Given the description of an element on the screen output the (x, y) to click on. 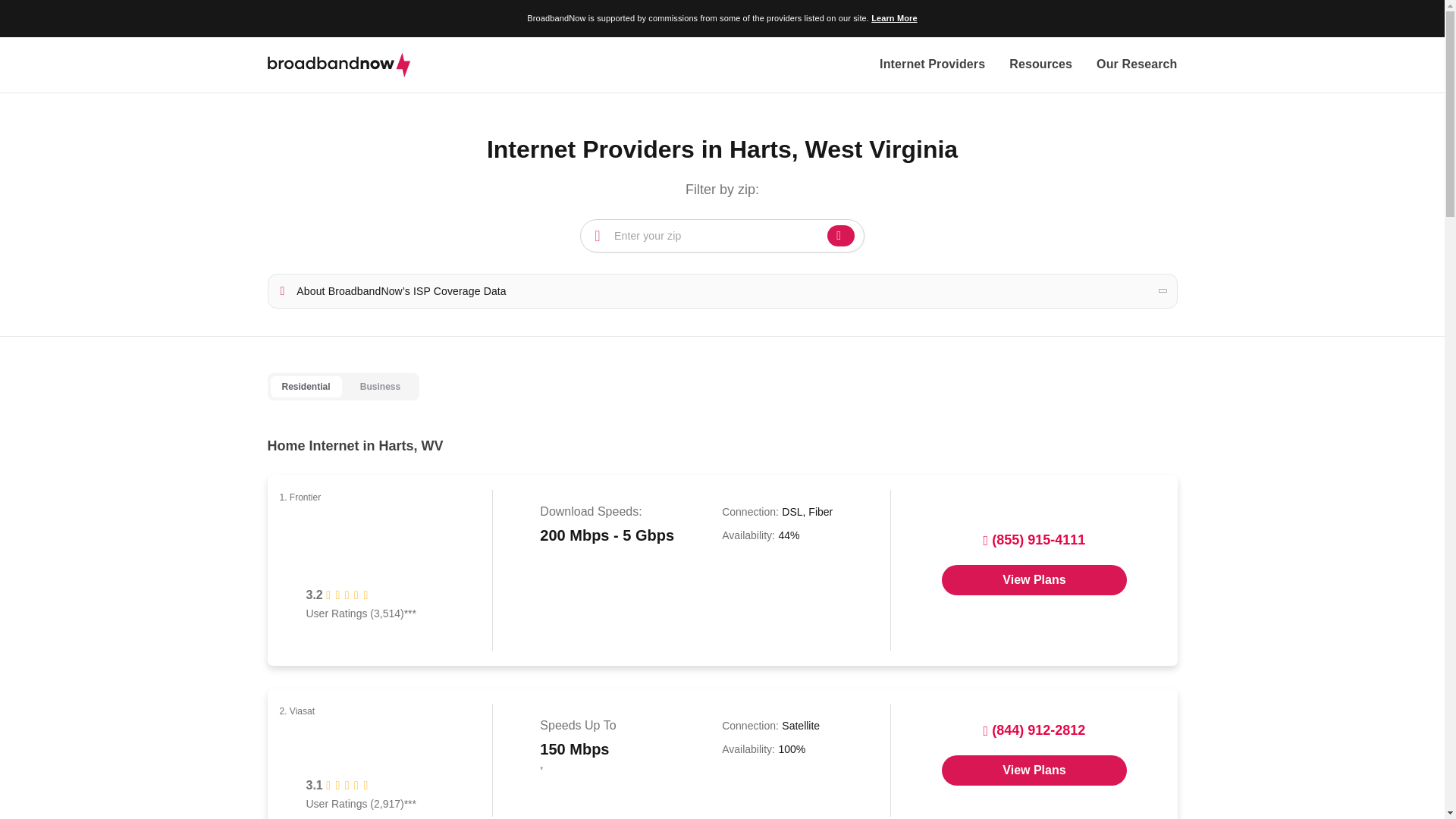
Opens in a new window (1034, 770)
Opens in a new window (1034, 580)
Resources (1040, 64)
Our Research (1136, 64)
Learn More (893, 17)
Internet Providers (932, 64)
Residential (305, 386)
